Given the description of an element on the screen output the (x, y) to click on. 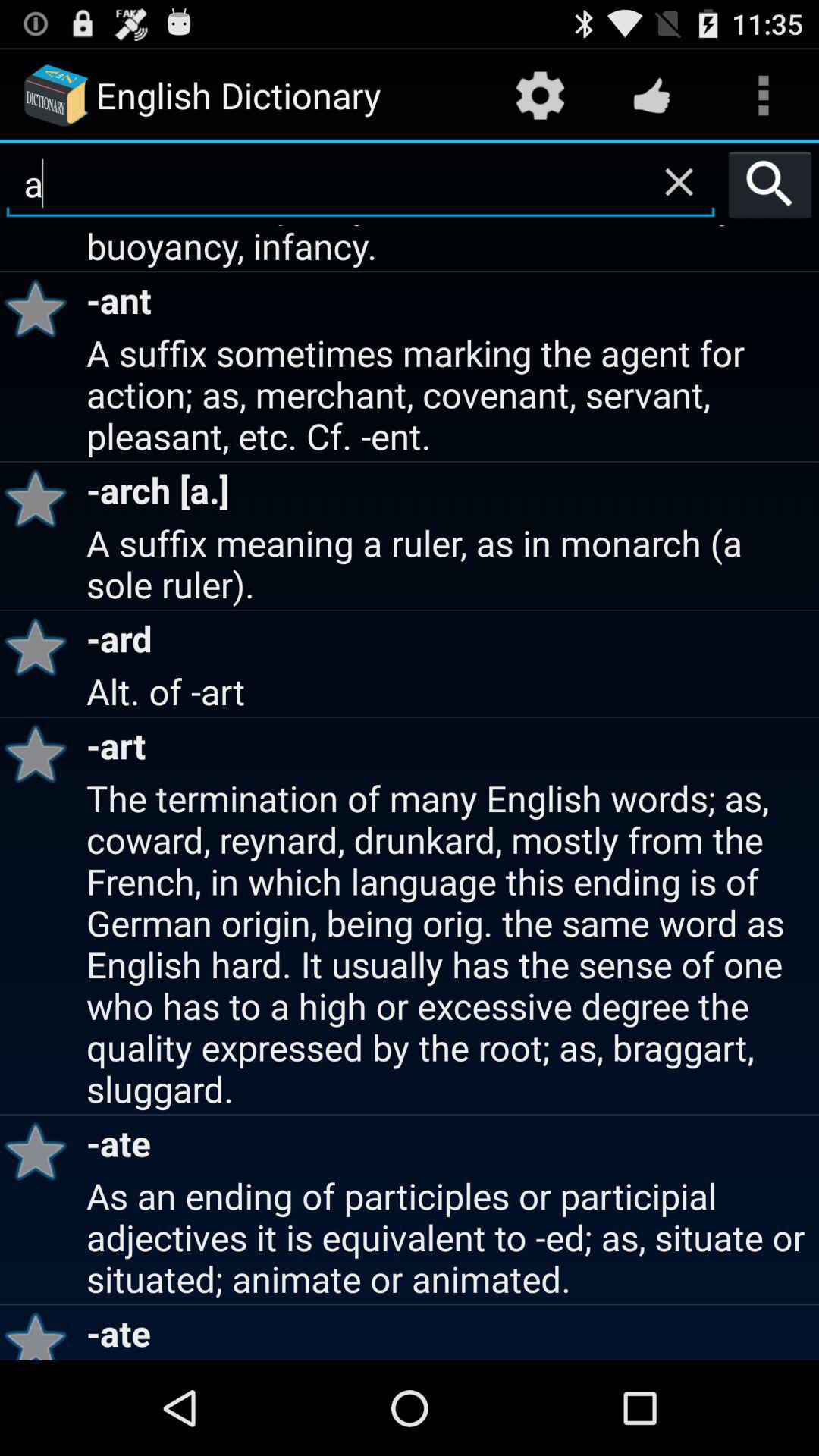
turn on app below a suffix sometimes icon (41, 498)
